Given the description of an element on the screen output the (x, y) to click on. 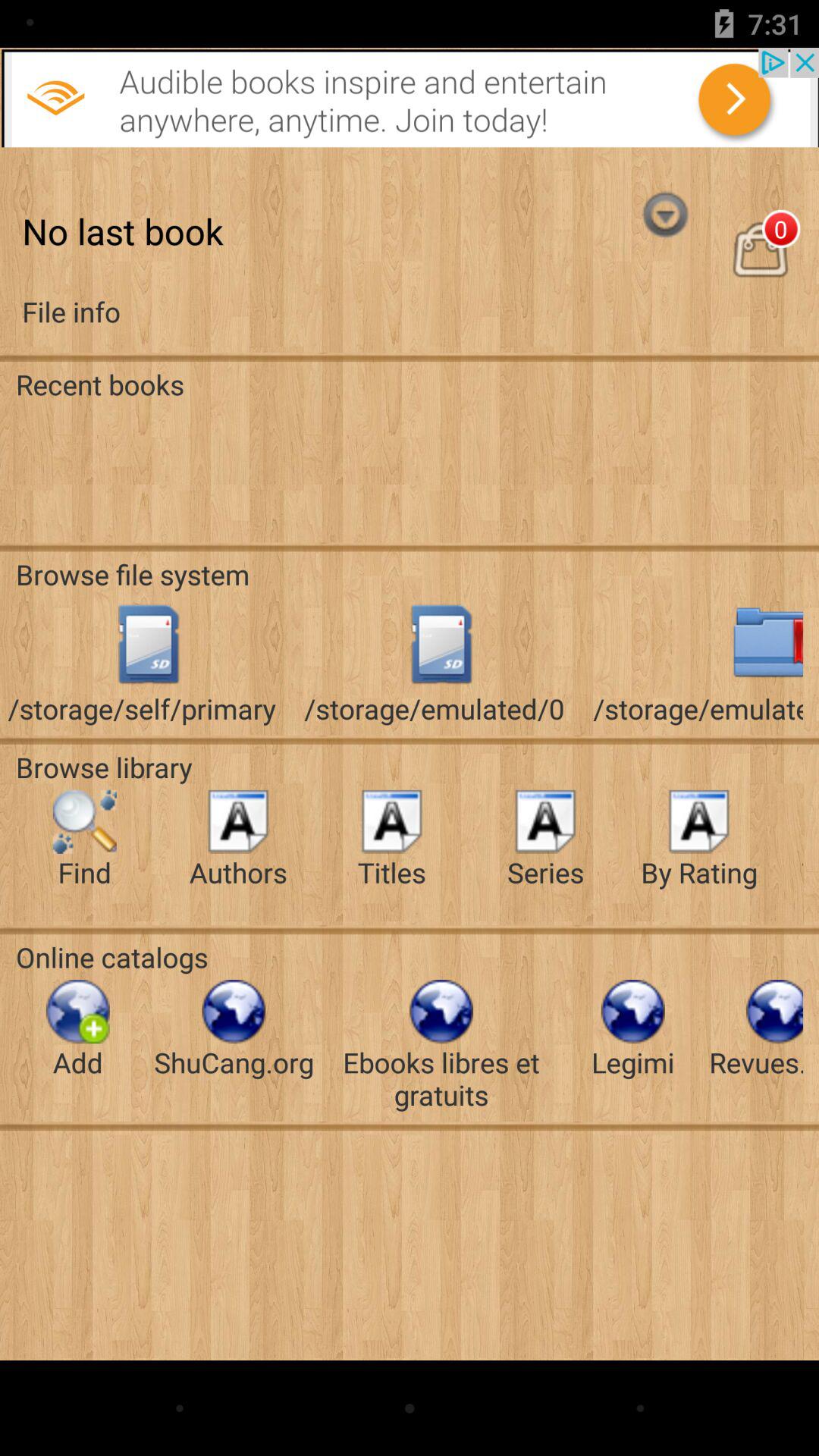
advertisement page (409, 97)
